Given the description of an element on the screen output the (x, y) to click on. 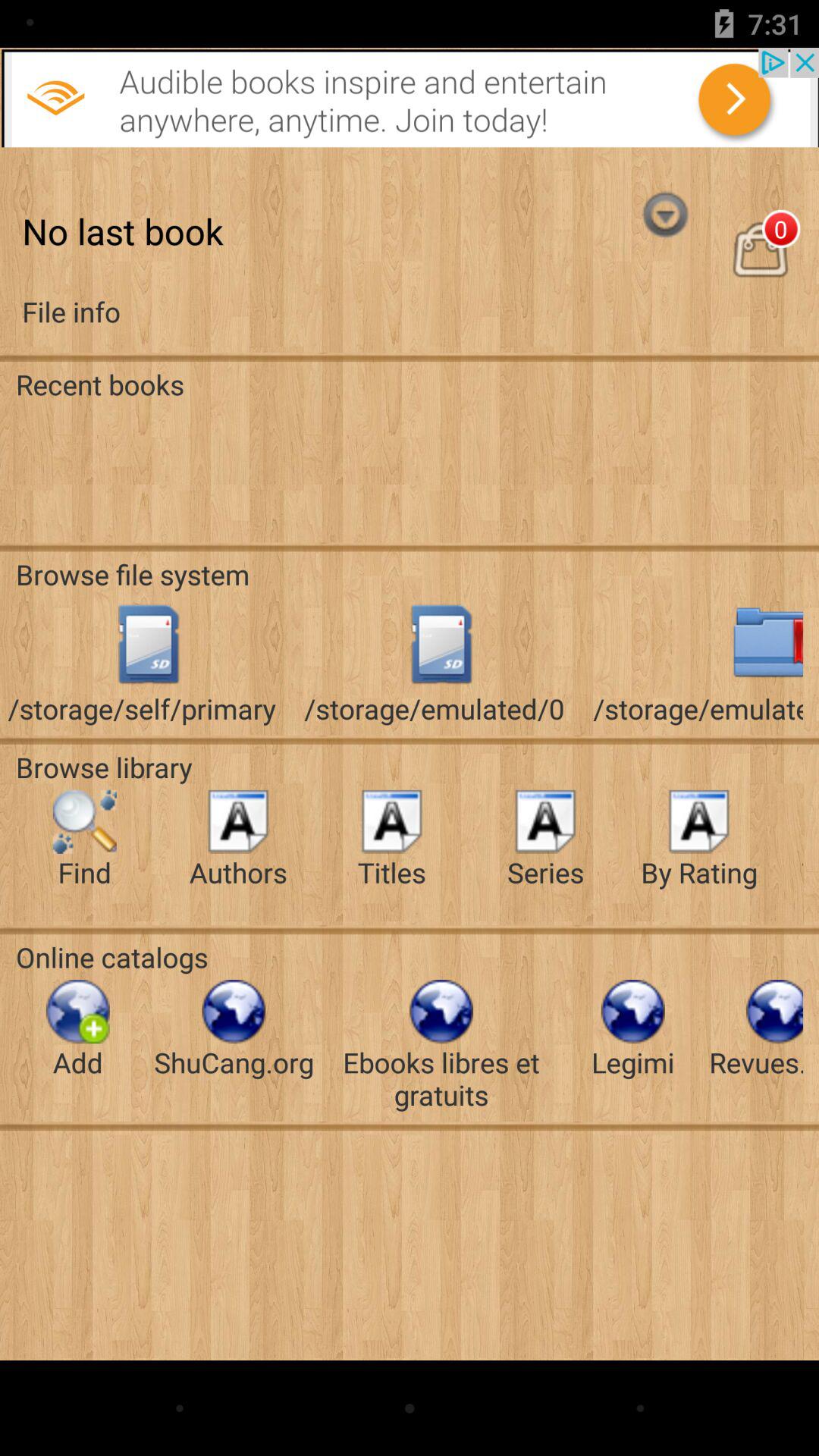
advertisement page (409, 97)
